Given the description of an element on the screen output the (x, y) to click on. 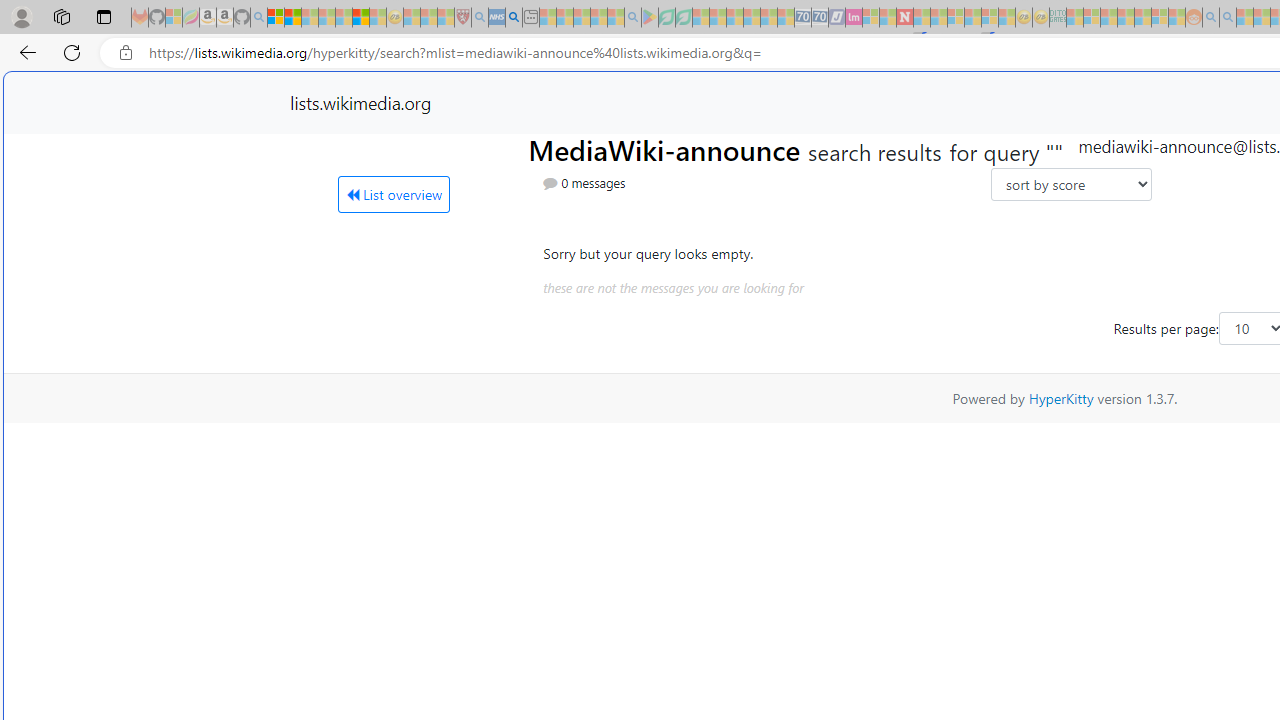
Bluey: Let's Play! - Apps on Google Play - Sleeping (649, 17)
MSNBC - MSN - Sleeping (1074, 17)
AutomationID: sort-search (1070, 183)
